Given the description of an element on the screen output the (x, y) to click on. 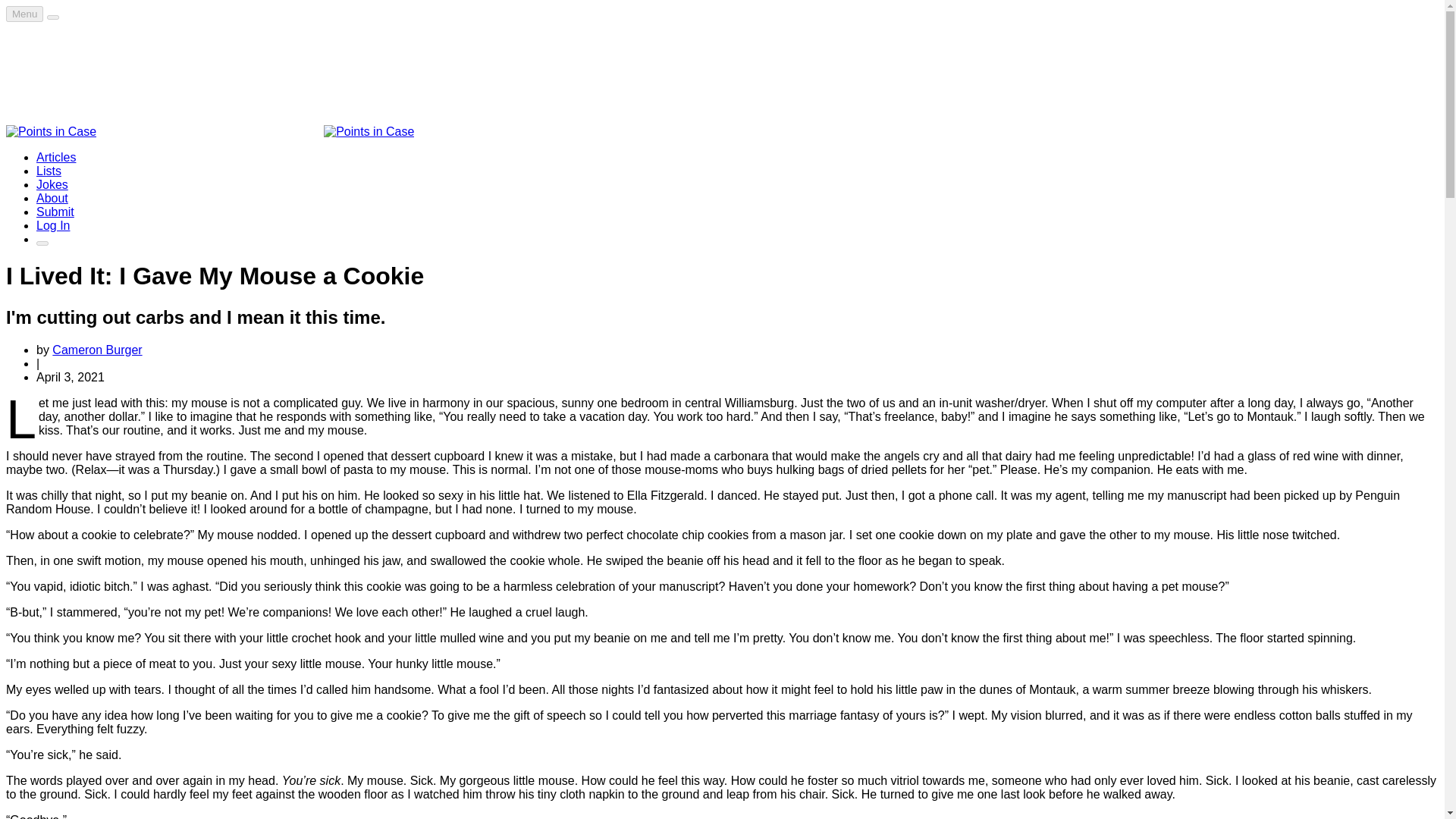
Log In (52, 225)
Submit (55, 211)
Posts by Cameron Burger (96, 349)
Cameron Burger (96, 349)
Articles (55, 156)
Lists (48, 170)
Menu (24, 13)
About (52, 197)
Jokes (52, 184)
